Given the description of an element on the screen output the (x, y) to click on. 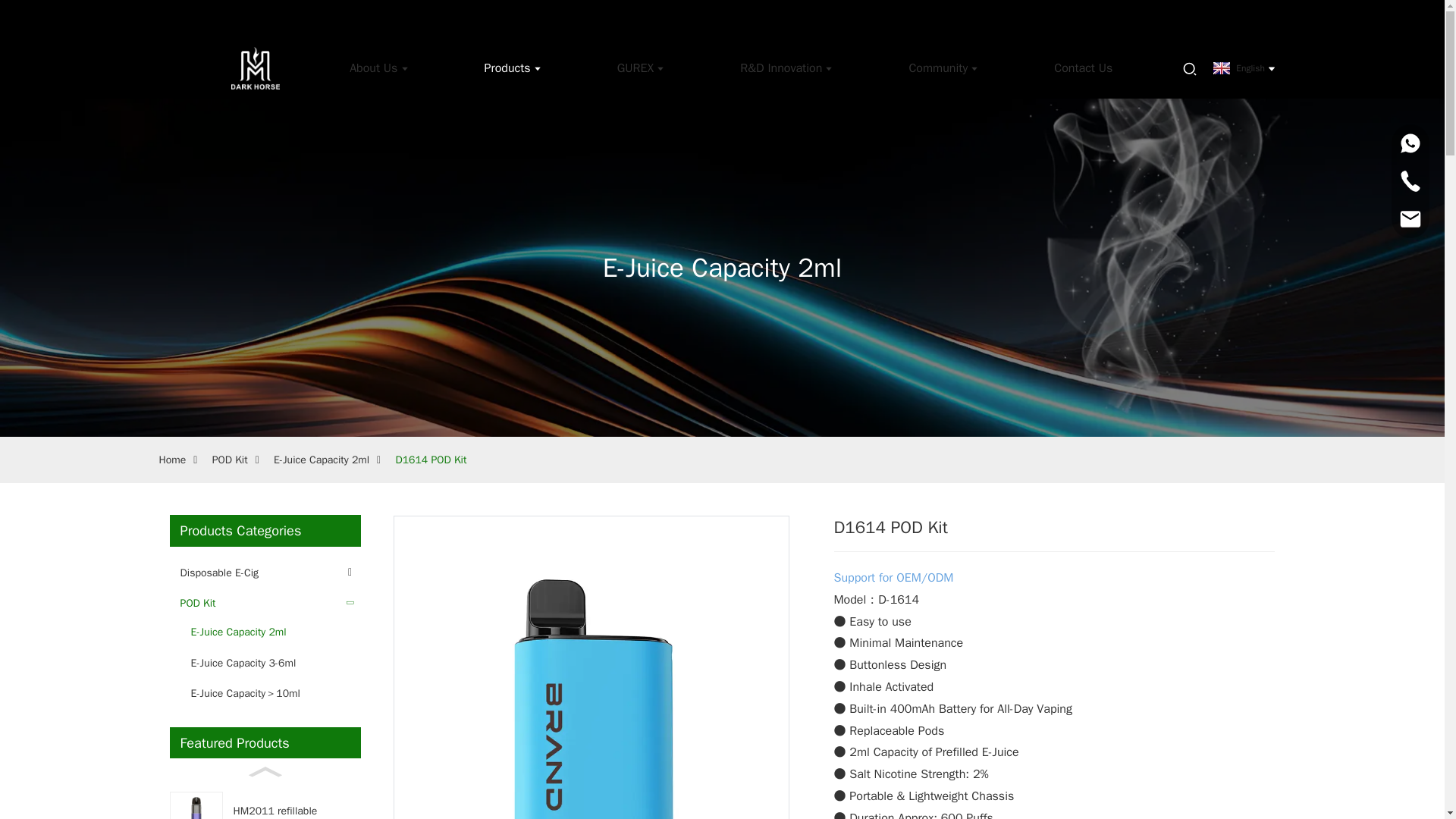
GUREX (640, 67)
Contact Us (1083, 67)
r-d-innovation (785, 67)
About Us (378, 67)
products (512, 67)
about-us (378, 67)
gurex (640, 67)
Community (943, 67)
Products (512, 67)
